Given the description of an element on the screen output the (x, y) to click on. 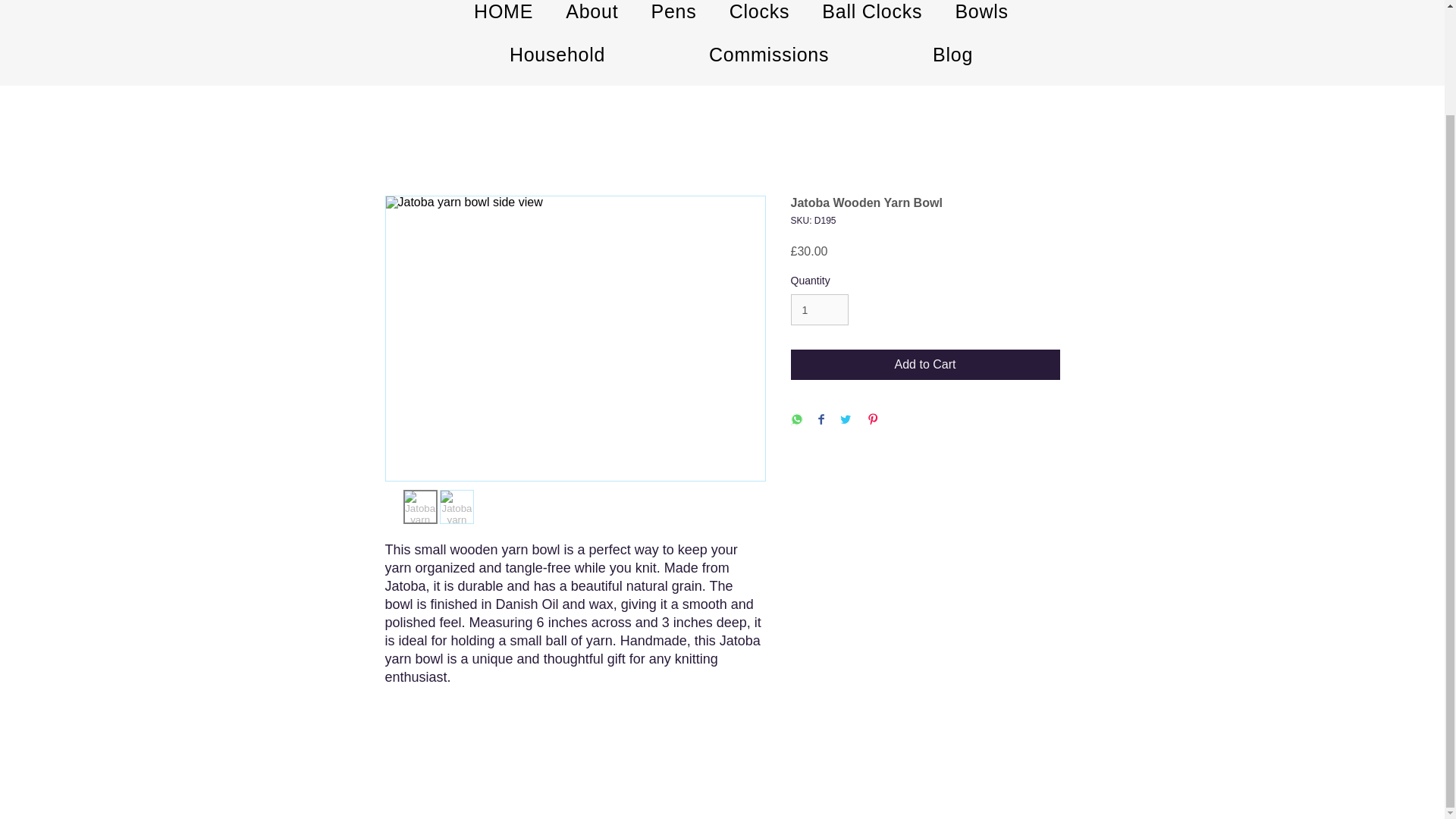
Pens (673, 15)
Household (557, 54)
Blog (952, 54)
1 (818, 309)
Bowls (982, 15)
Ball Clocks (872, 15)
About (592, 15)
Add to Cart (924, 364)
Clocks (759, 15)
HOME (504, 15)
Commissions (769, 54)
